Given the description of an element on the screen output the (x, y) to click on. 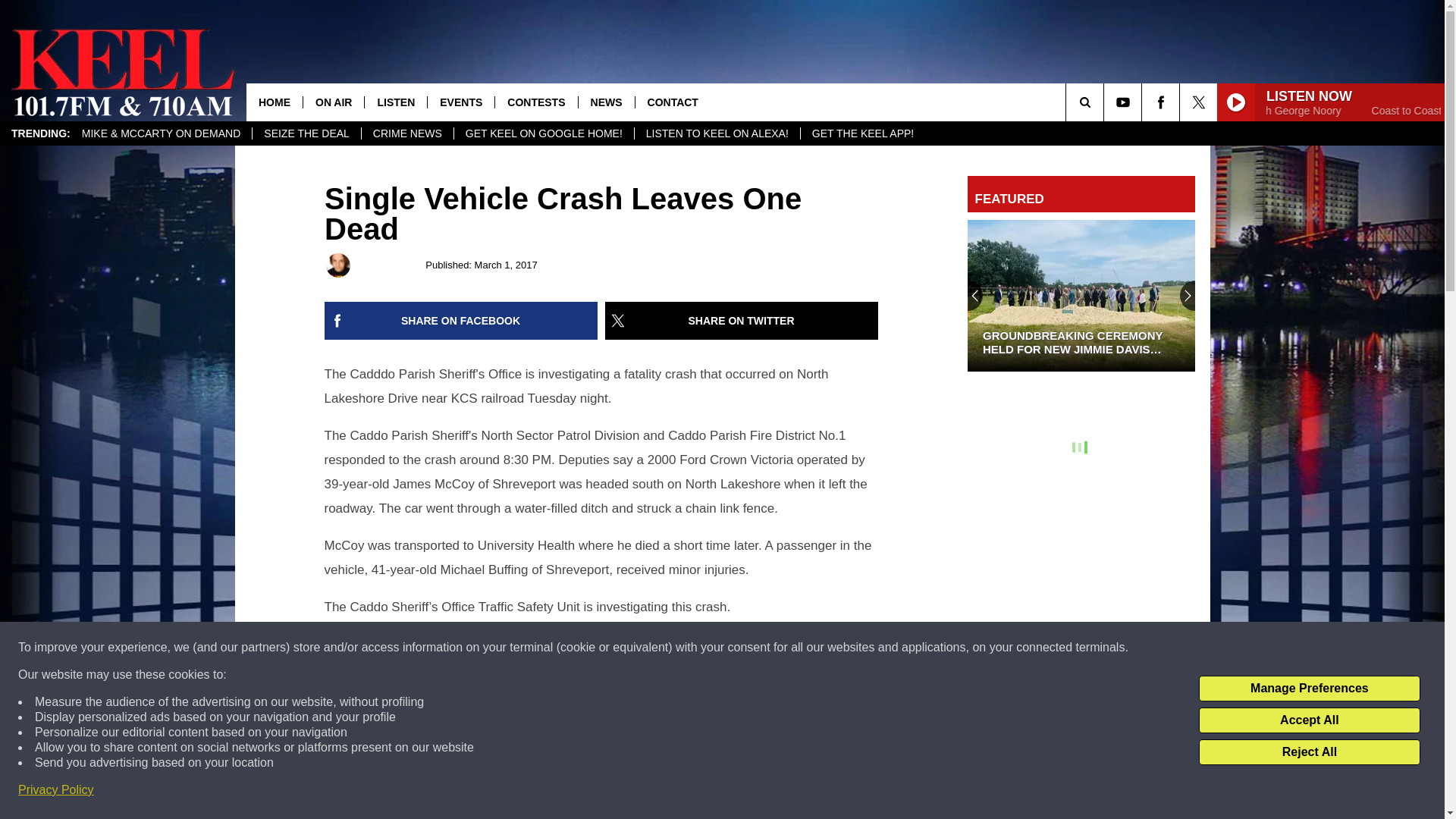
EVENTS (460, 102)
GET THE KEEL APP! (861, 133)
Manage Preferences (1309, 688)
Privacy Policy (55, 789)
CRIME NEWS (406, 133)
SEARCH (1106, 102)
GET KEEL ON GOOGLE HOME! (542, 133)
CONTESTS (535, 102)
Accept All (1309, 720)
Share on Twitter (741, 320)
